Given the description of an element on the screen output the (x, y) to click on. 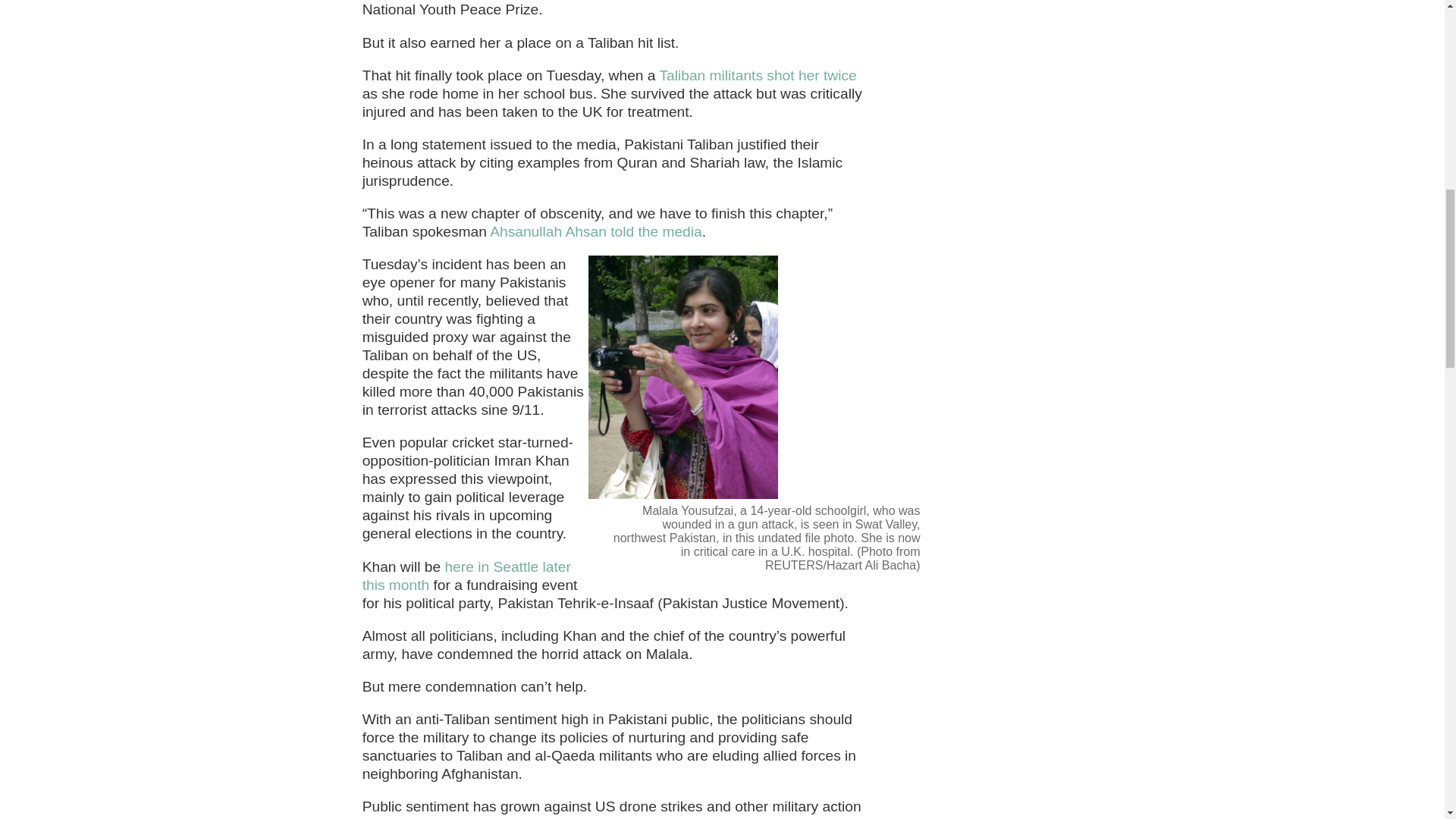
Ahsanullah Ahsan told the media (595, 231)
Taliban militants shot her twice (757, 75)
here in Seattle later this month (466, 575)
